Given the description of an element on the screen output the (x, y) to click on. 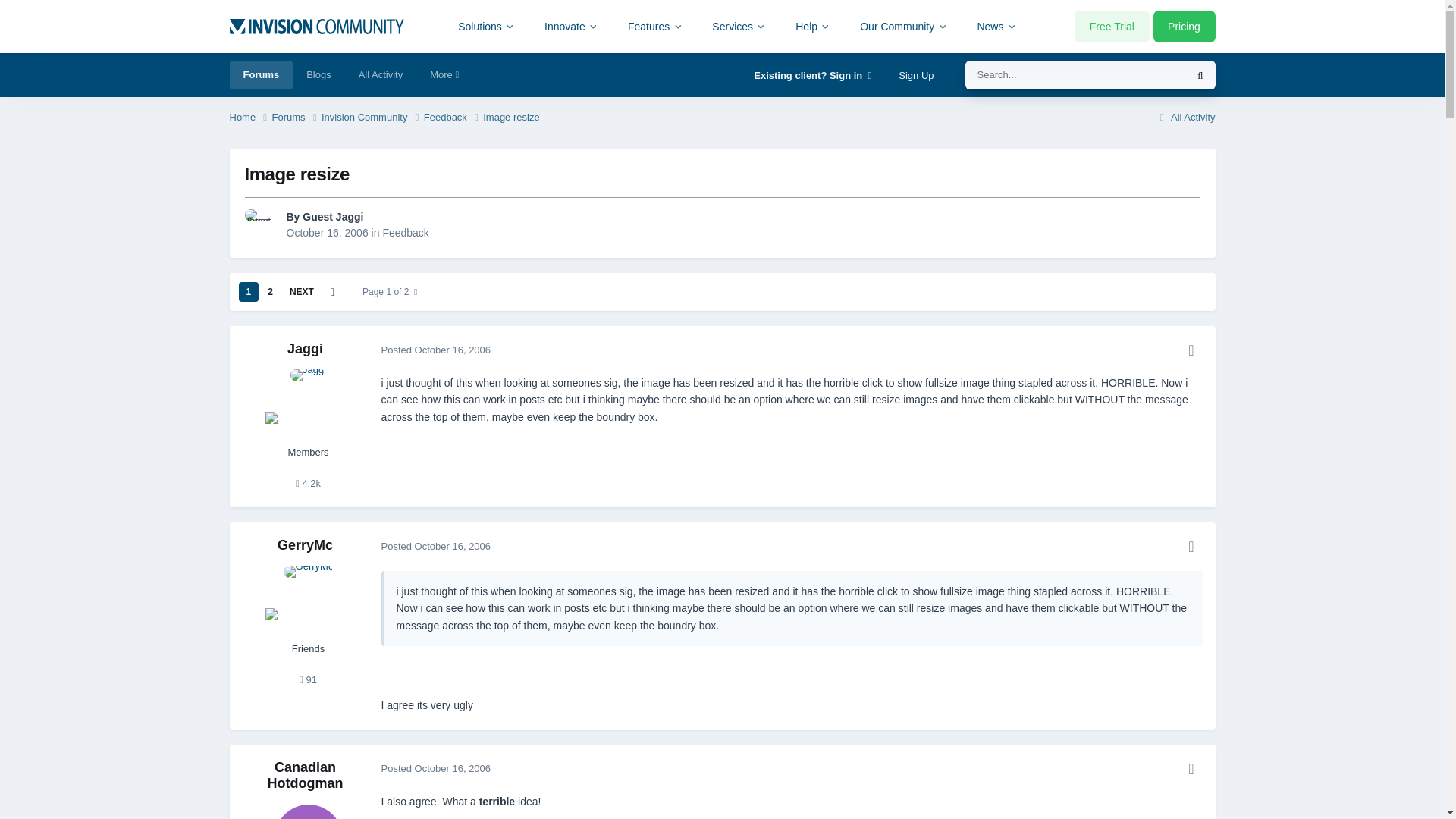
Services (738, 26)
Innovate (570, 26)
Help (812, 26)
Home (249, 117)
Features (654, 26)
Solutions (486, 26)
